Given the description of an element on the screen output the (x, y) to click on. 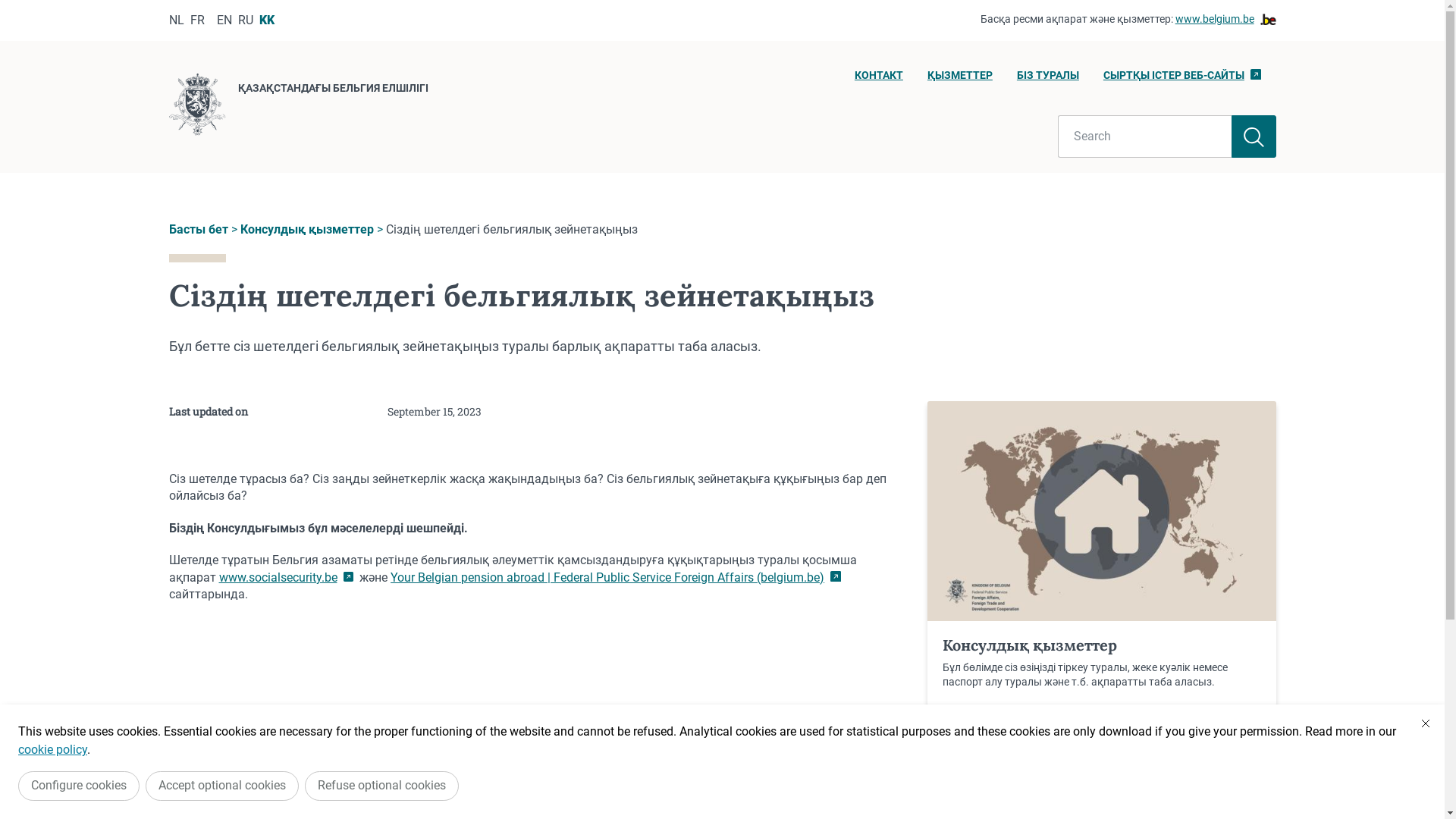
Refuse optional cookies Element type: text (381, 785)
www.socialsecurity.be Element type: text (285, 577)
Apply filter Element type: text (1253, 136)
www.belgium.be Element type: text (1225, 19)
Accept optional cookies Element type: text (221, 785)
NL Element type: text (175, 19)
Configure cookies Element type: text (78, 785)
RU Element type: text (245, 19)
KK Element type: text (266, 19)
cookie policy Element type: text (52, 749)
FR Element type: text (196, 19)
EN Element type: text (224, 19)
Close Element type: hover (1425, 723)
Skip to main content Element type: text (7, 4)
Search Element type: hover (1144, 136)
